Given the description of an element on the screen output the (x, y) to click on. 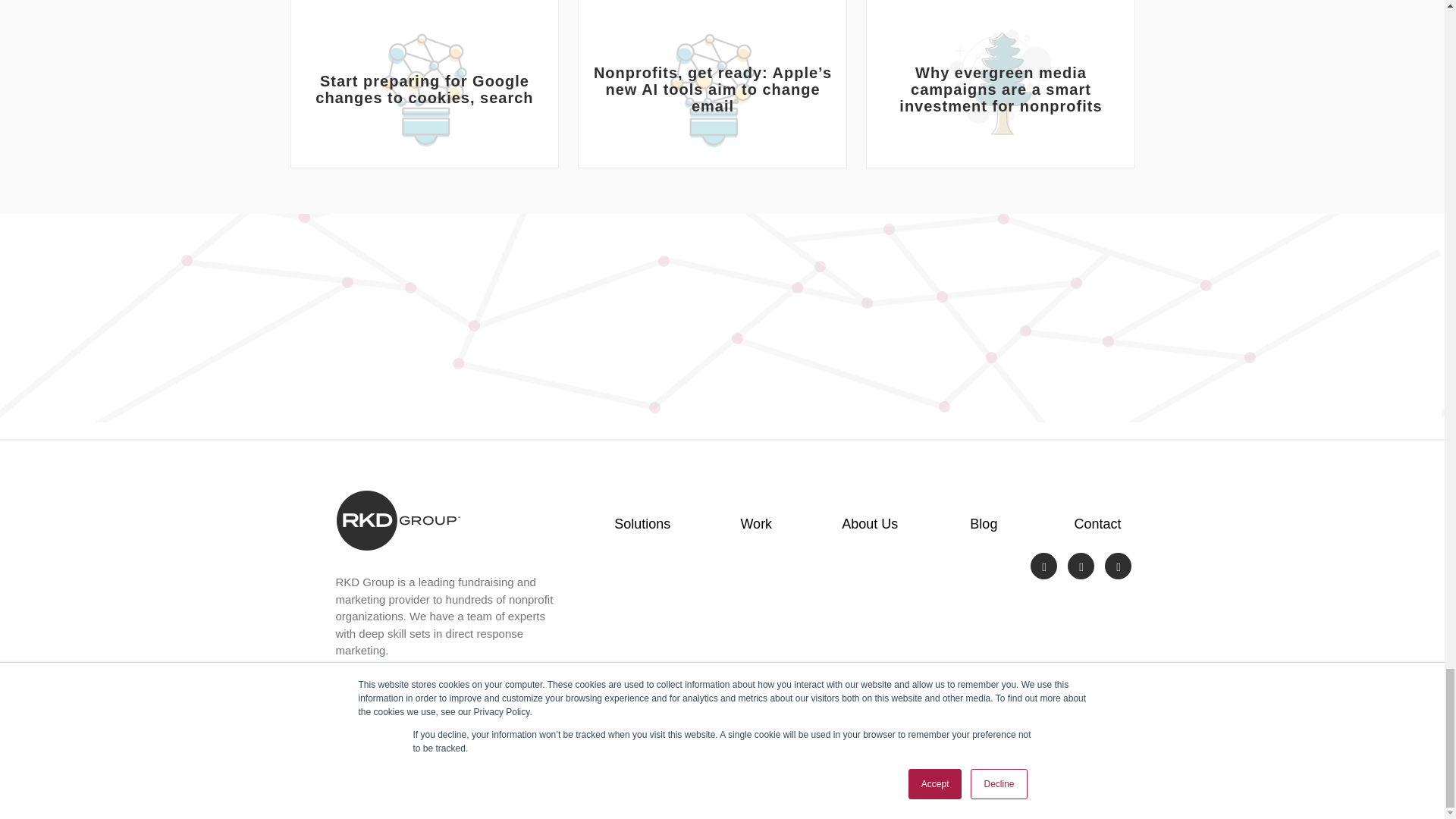
Rkdgroup (397, 520)
